Given the description of an element on the screen output the (x, y) to click on. 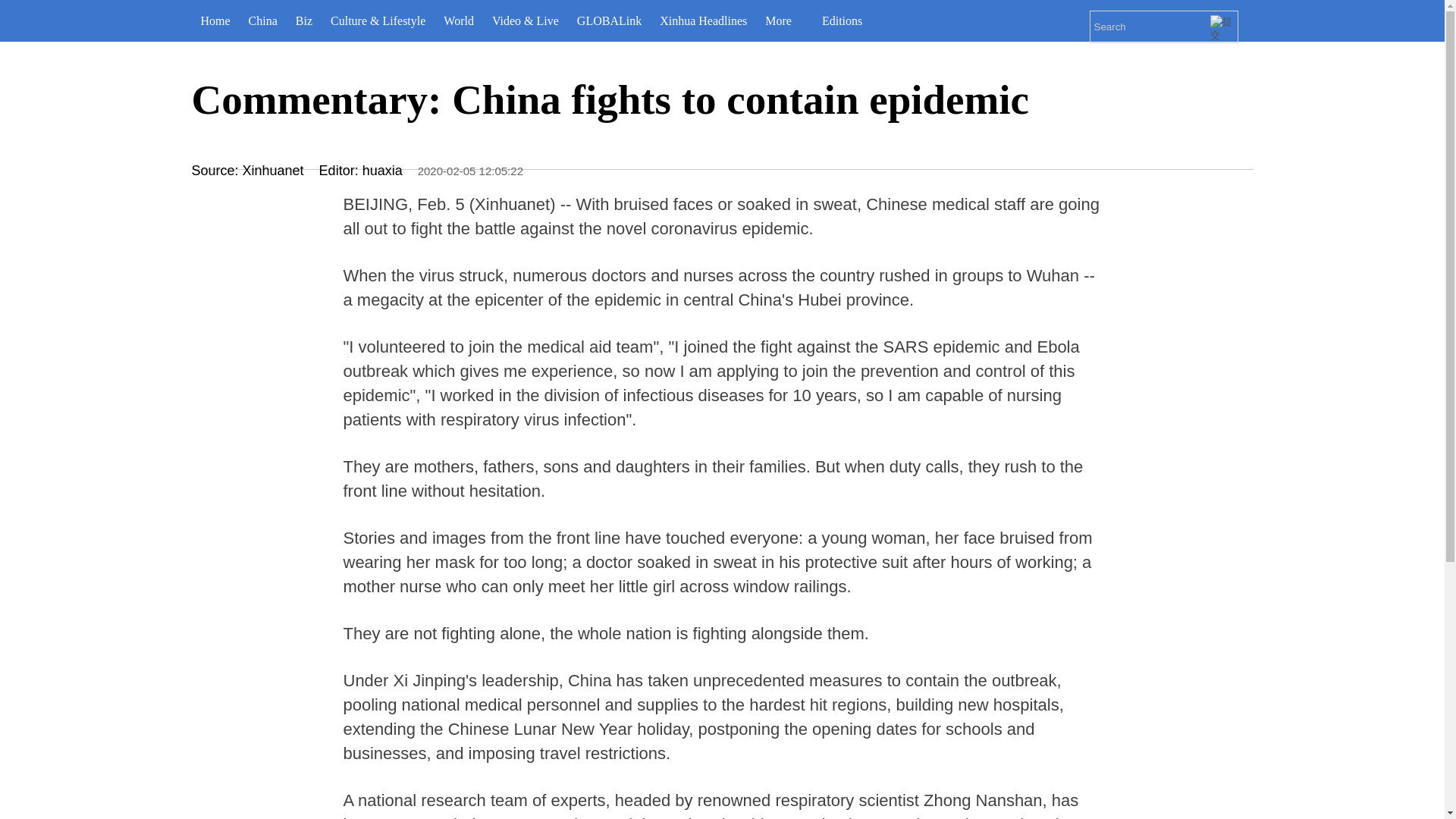
Editions (847, 20)
World (458, 20)
Xinhua Headlines (702, 20)
China (263, 20)
More (783, 20)
GLOBALink (608, 20)
Home (214, 20)
